Given the description of an element on the screen output the (x, y) to click on. 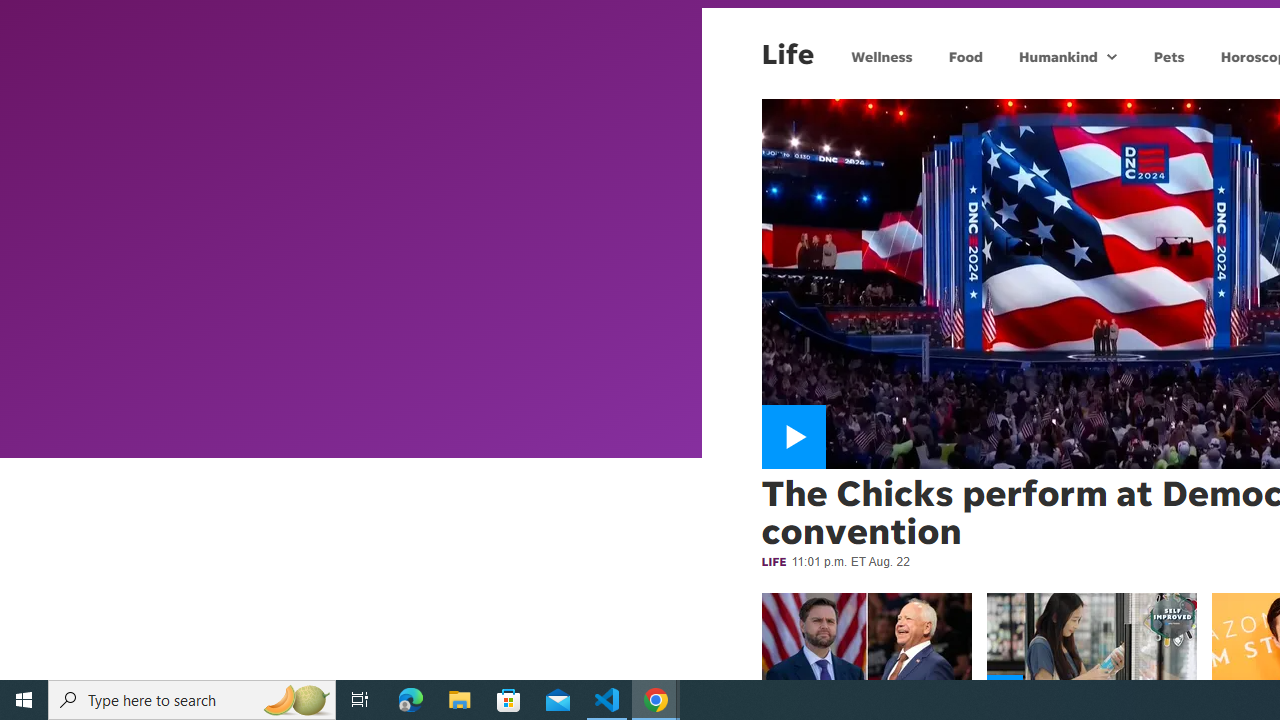
Start (24, 699)
